Given the description of an element on the screen output the (x, y) to click on. 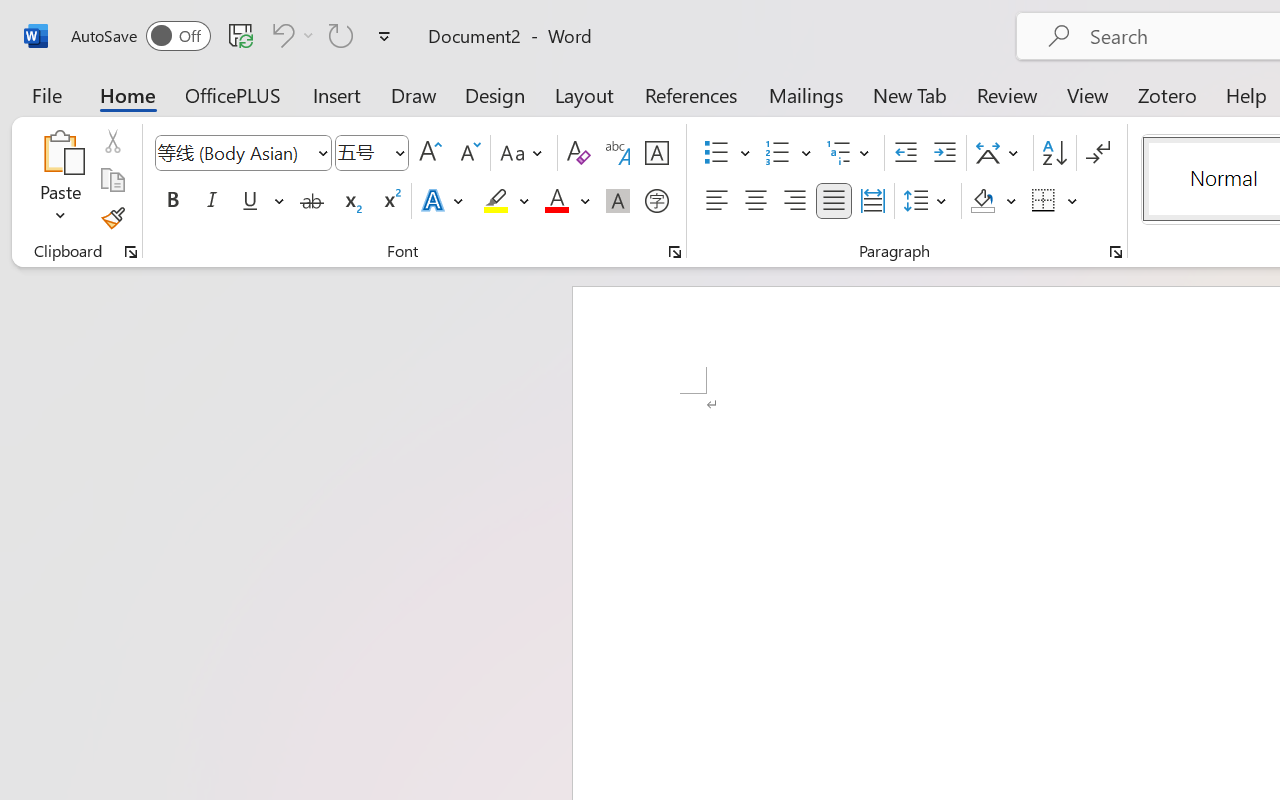
Office Clipboard... (131, 252)
Underline (261, 201)
Font (234, 152)
Sort... (1054, 153)
Copy (112, 179)
Insert (337, 94)
Can't Repeat (341, 35)
Open (399, 152)
Paste (60, 151)
Increase Indent (944, 153)
Home (127, 94)
Borders (1044, 201)
Design (495, 94)
Customize Quick Access Toolbar (384, 35)
Show/Hide Editing Marks (1098, 153)
